Given the description of an element on the screen output the (x, y) to click on. 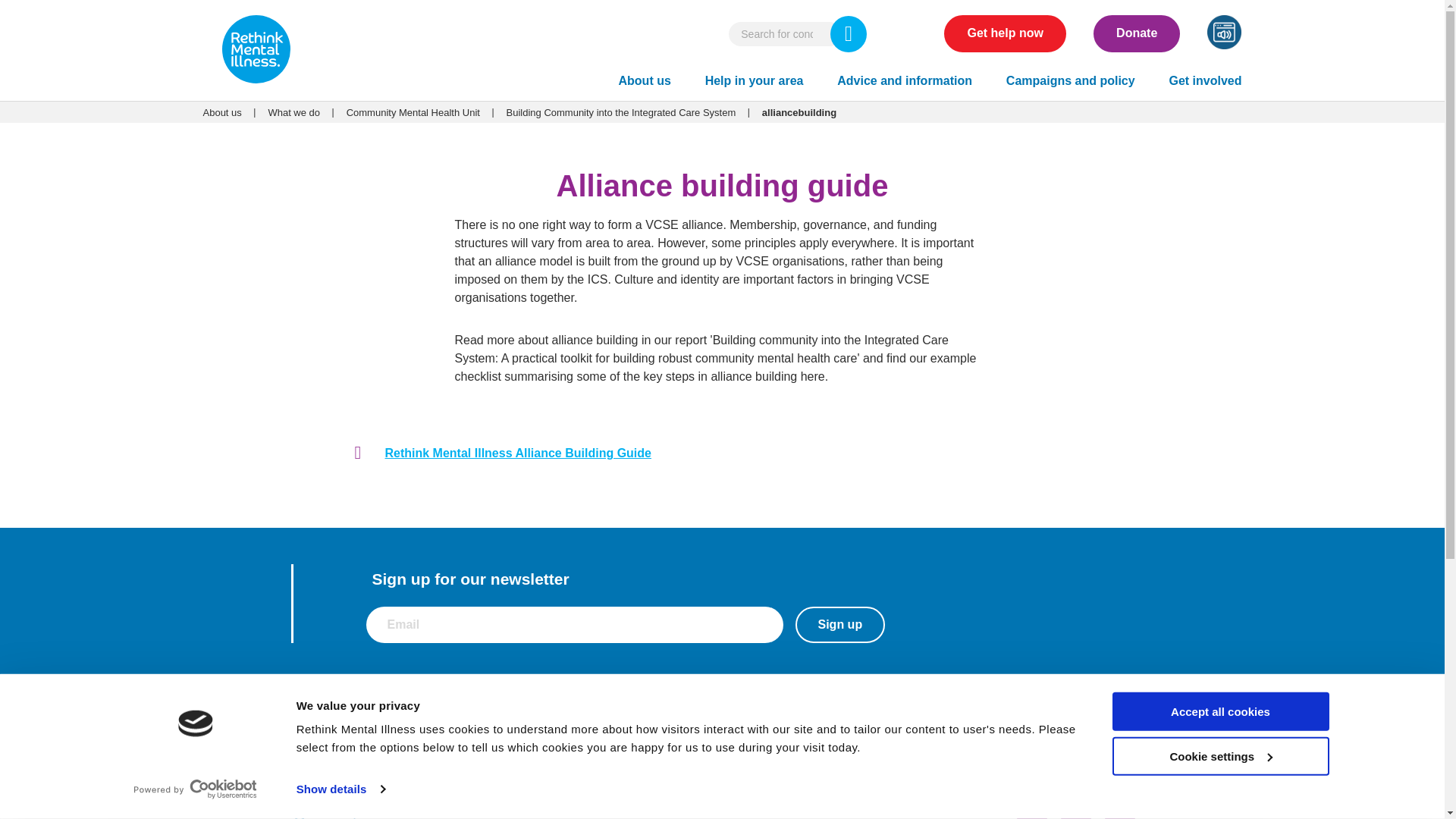
Rethink Mental Illness (255, 50)
Get help now (1004, 33)
Donate (1136, 33)
Show details (340, 789)
